Given the description of an element on the screen output the (x, y) to click on. 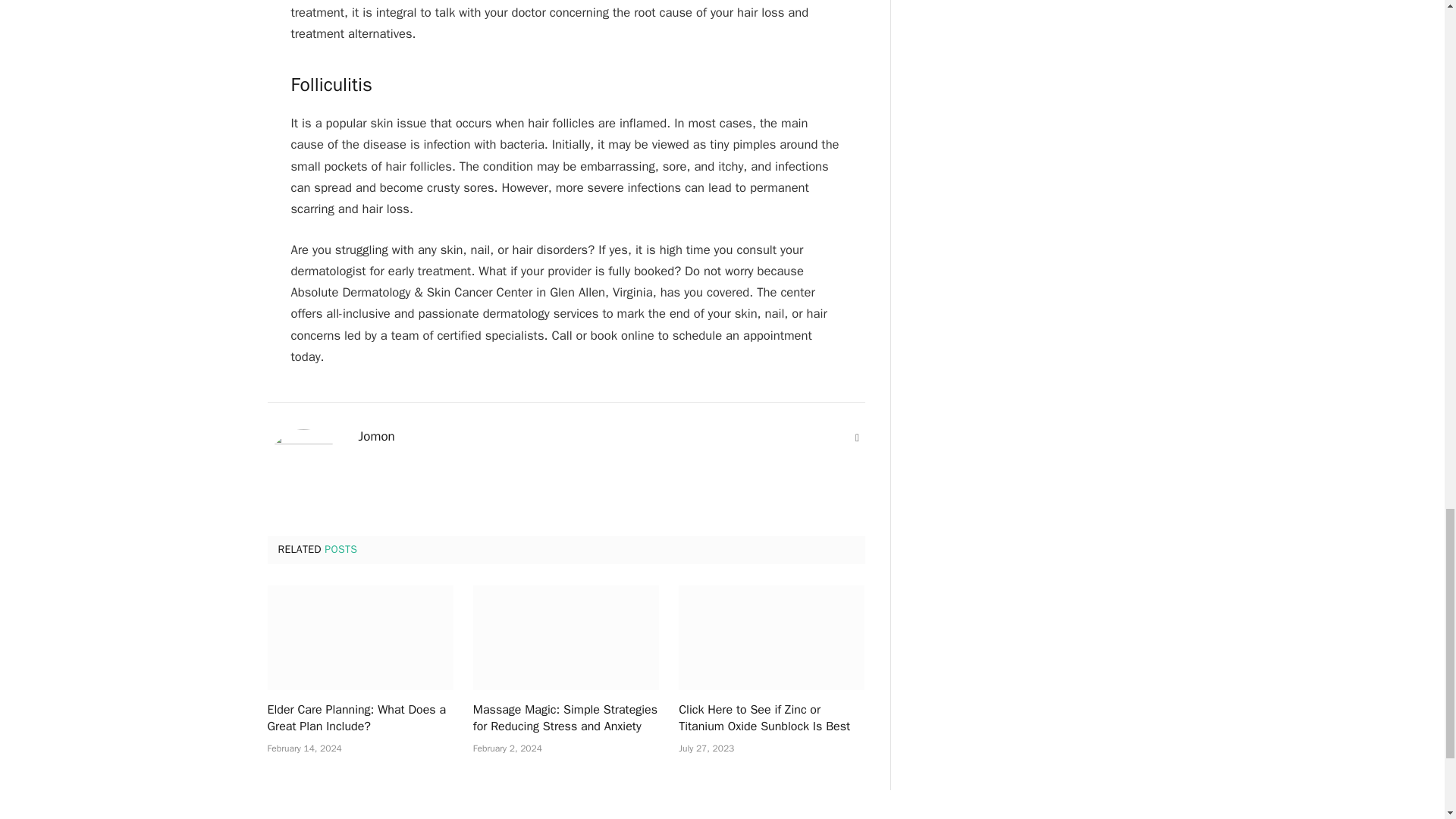
Website (856, 437)
Posts by Jomon (376, 436)
Elder Care Planning: What Does a Great Plan Include? (359, 637)
Jomon (376, 436)
Click Here to See if Zinc or Titanium Oxide Sunblock Is Best (771, 637)
Click Here to See if Zinc or Titanium Oxide Sunblock Is Best (771, 718)
Elder Care Planning: What Does a Great Plan Include? (359, 718)
Website (856, 437)
